Given the description of an element on the screen output the (x, y) to click on. 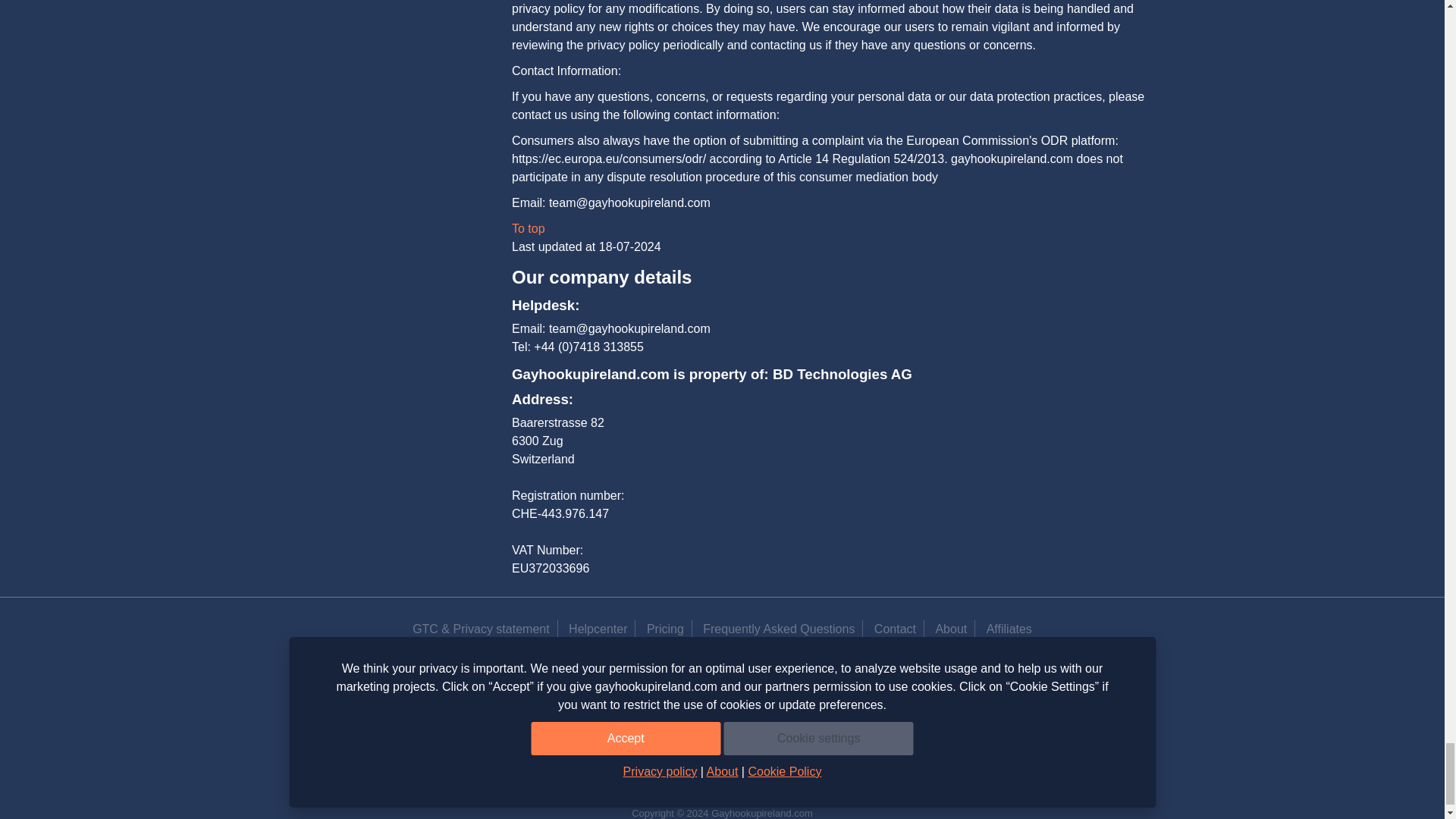
Helpcenter (597, 628)
To top (528, 228)
More info (1010, 690)
Pricing (665, 628)
Affiliates (1008, 628)
About (950, 628)
Contact (894, 628)
Frequently Asked Questions (778, 628)
